Given the description of an element on the screen output the (x, y) to click on. 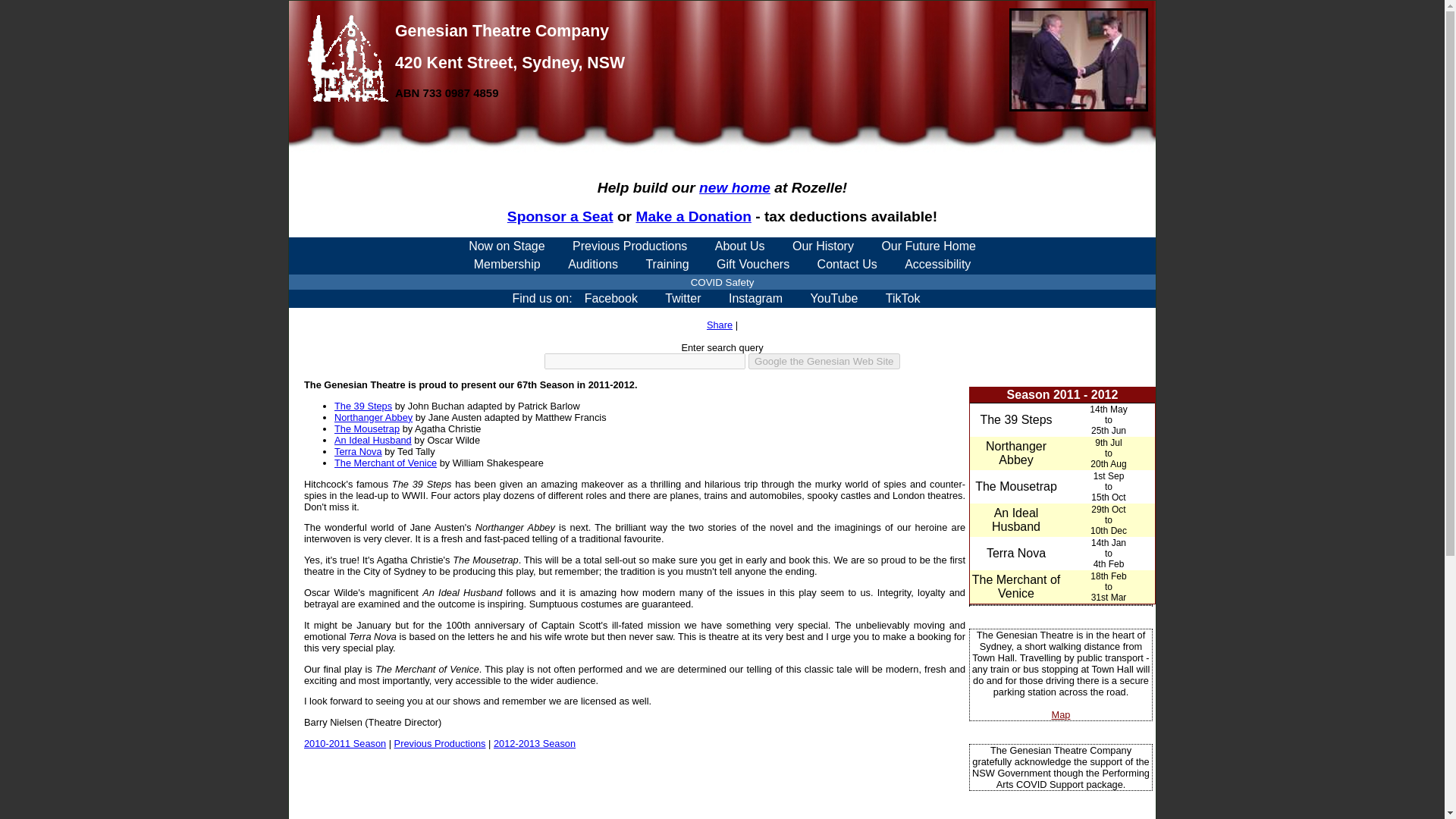
The Mousetrap (366, 428)
Northanger Abbey (1015, 452)
Gift Vouchers (753, 263)
Our Future Home (928, 245)
Auditions (593, 263)
An Ideal Husband (1016, 519)
The 39 Steps (1015, 419)
TikTok (903, 298)
Google the Genesian Web Site (823, 360)
new home (734, 187)
